Given the description of an element on the screen output the (x, y) to click on. 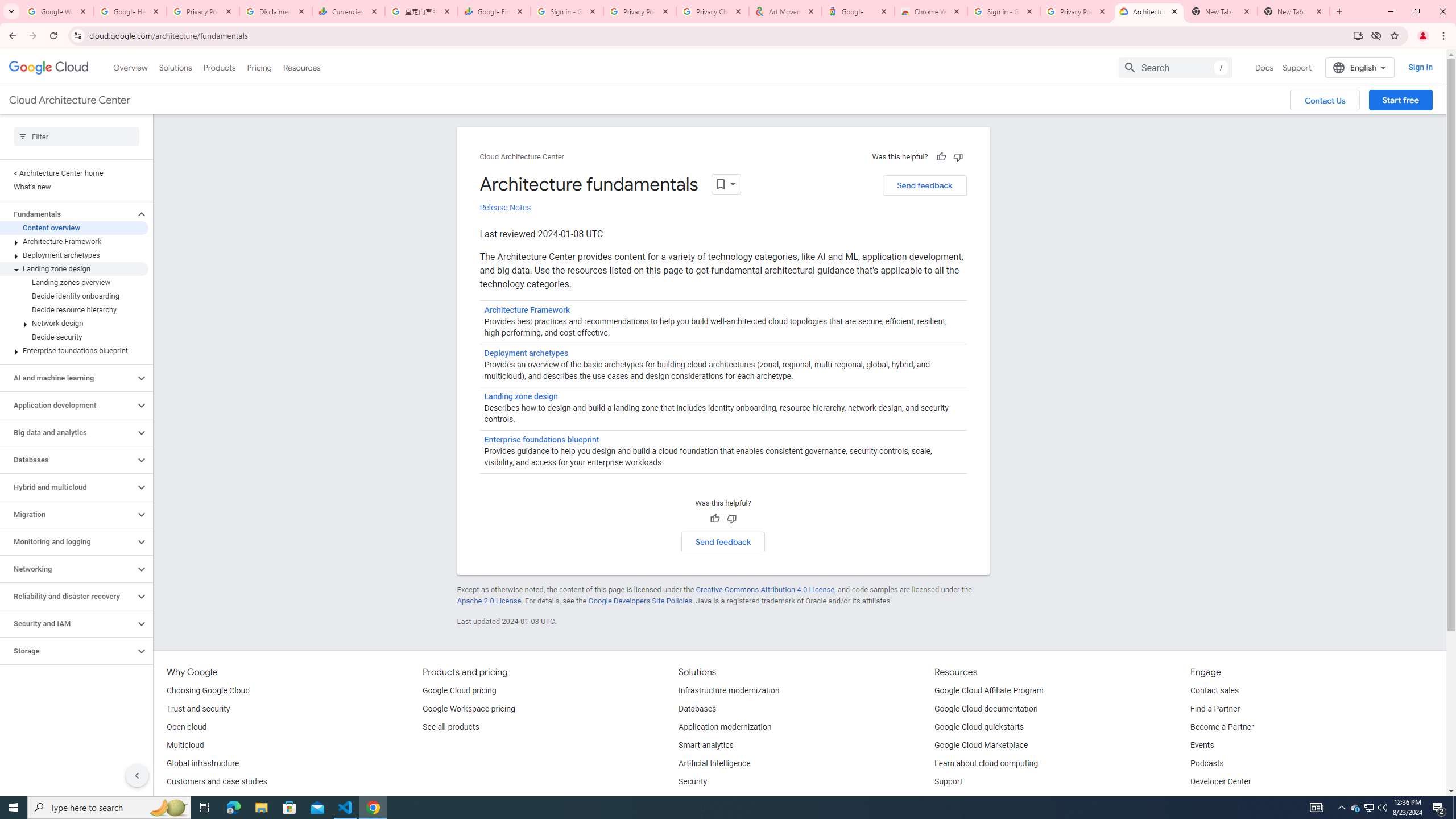
Fundamentals (67, 214)
Analyst reports (193, 800)
Google Cloud quickstarts (978, 727)
Google (857, 11)
< Architecture Center home (74, 173)
Infrastructure modernization (729, 691)
Press Corner (1213, 800)
Apache 2.0 License (489, 600)
Chrome Web Store - Color themes by Chrome (930, 11)
Docs, selected (1264, 67)
